Given the description of an element on the screen output the (x, y) to click on. 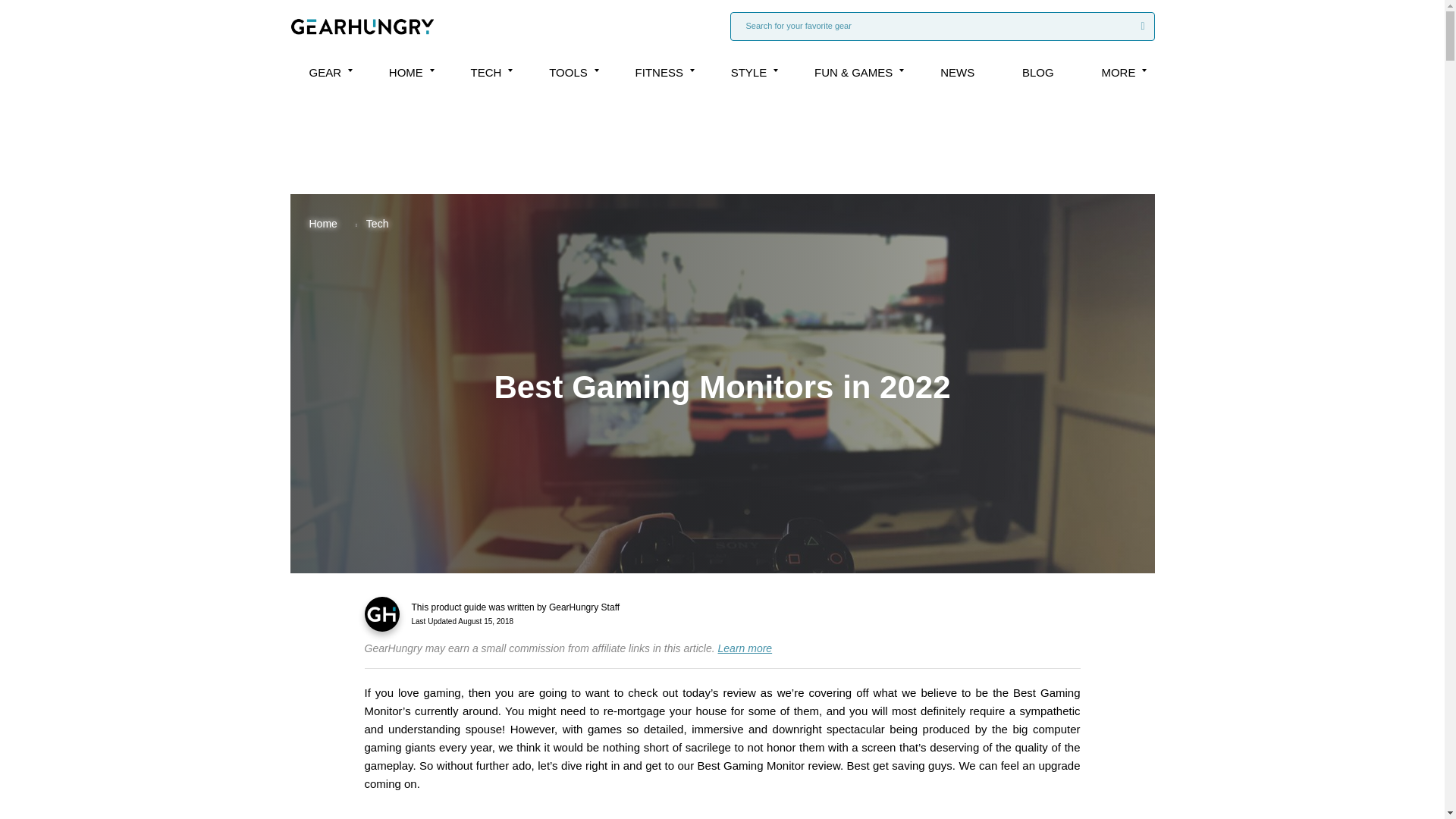
HOME (405, 72)
FITNESS (658, 72)
TECH (486, 72)
TOOLS (568, 72)
GEAR (324, 72)
